Given the description of an element on the screen output the (x, y) to click on. 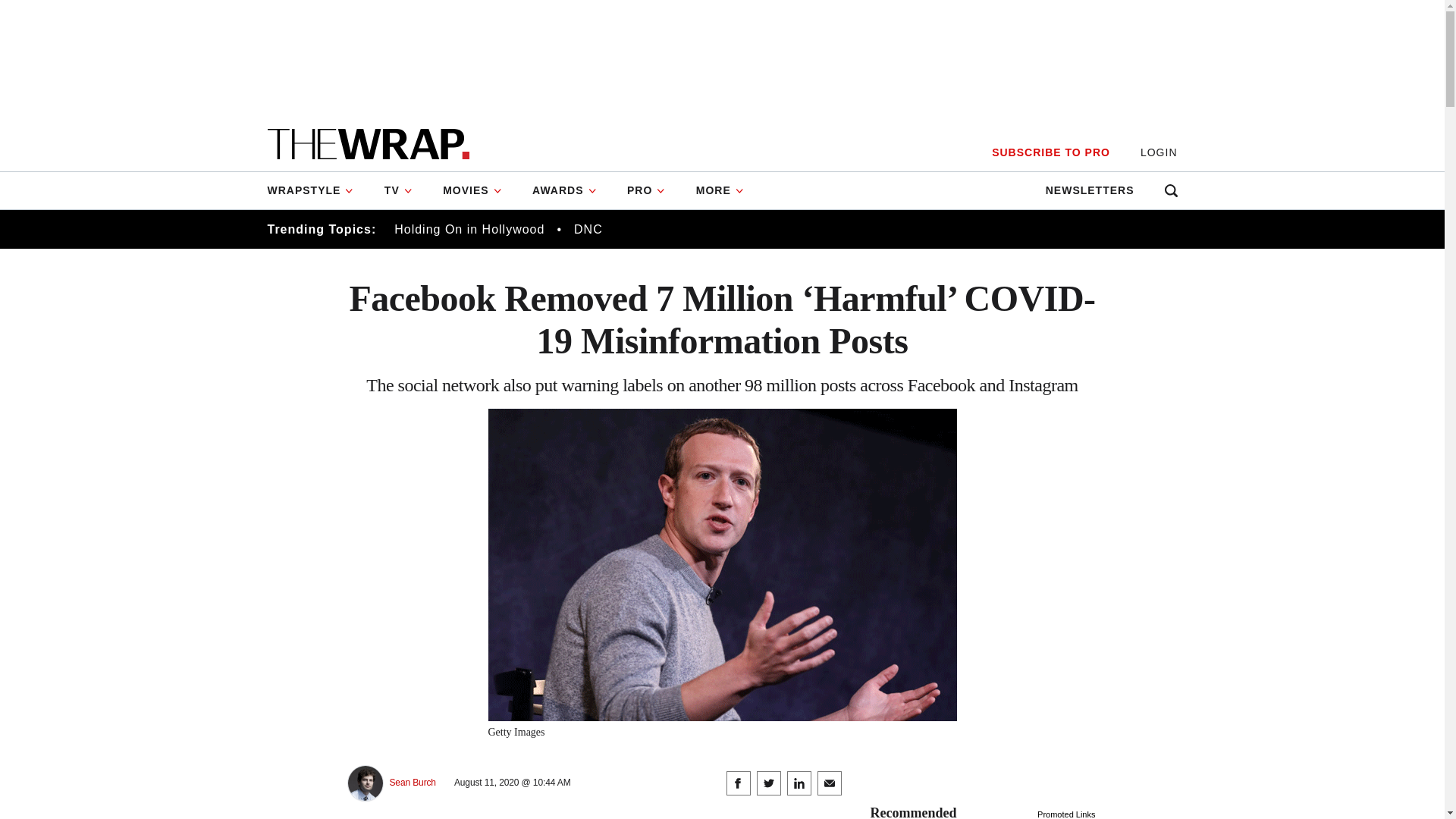
MOVIES (472, 190)
LOGIN (1158, 152)
Posts by Sean Burch (412, 782)
PRO (646, 190)
AWARDS (563, 190)
MORE (719, 190)
WRAPSTYLE (317, 190)
SUBSCRIBE TO PRO (1050, 152)
TV (398, 190)
